Given the description of an element on the screen output the (x, y) to click on. 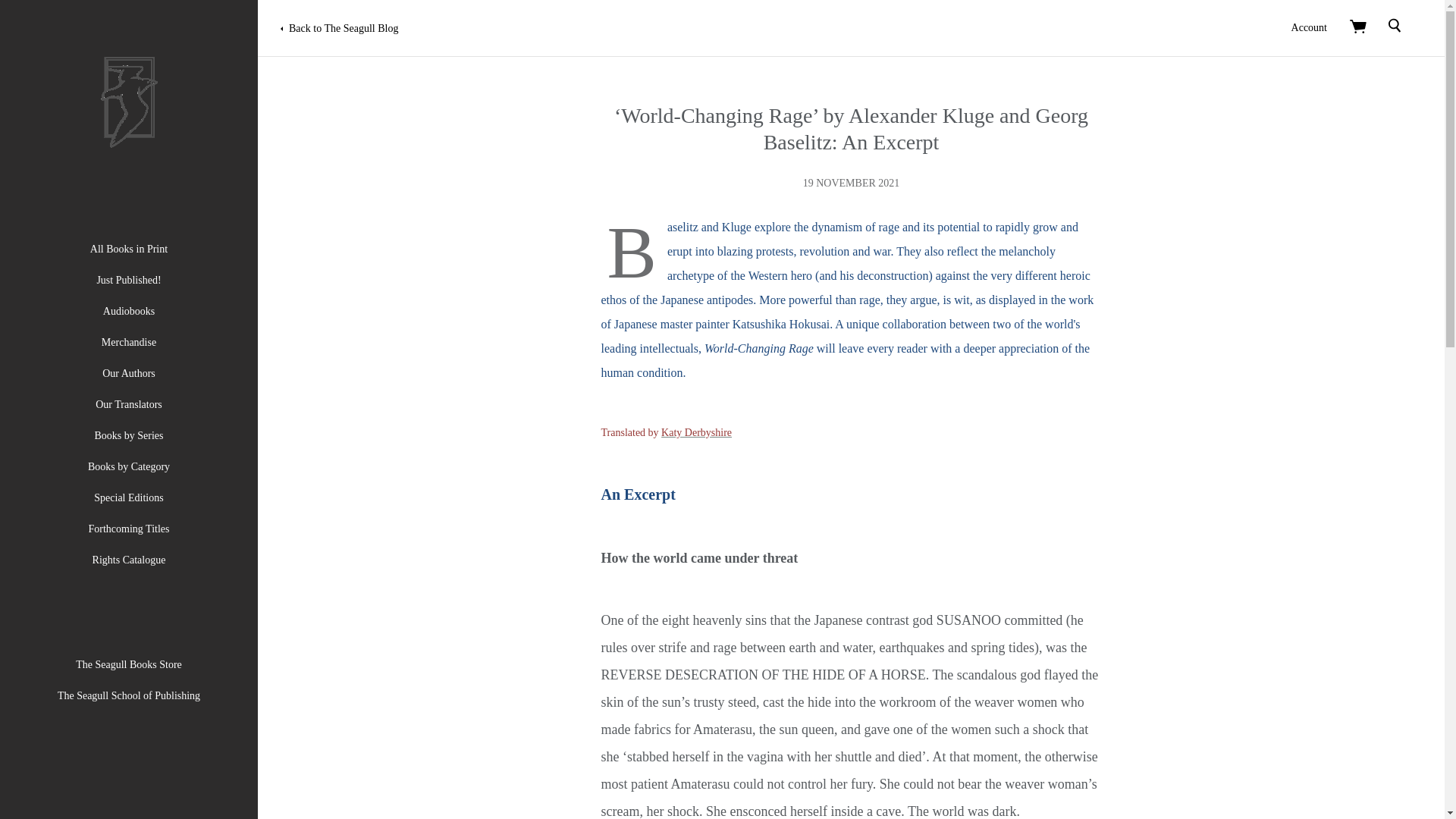
Cart (1358, 26)
Audiobooks (128, 310)
Our Authors (128, 373)
All Books in Print (128, 248)
Merchandise (128, 342)
Just Published! (128, 279)
